Given the description of an element on the screen output the (x, y) to click on. 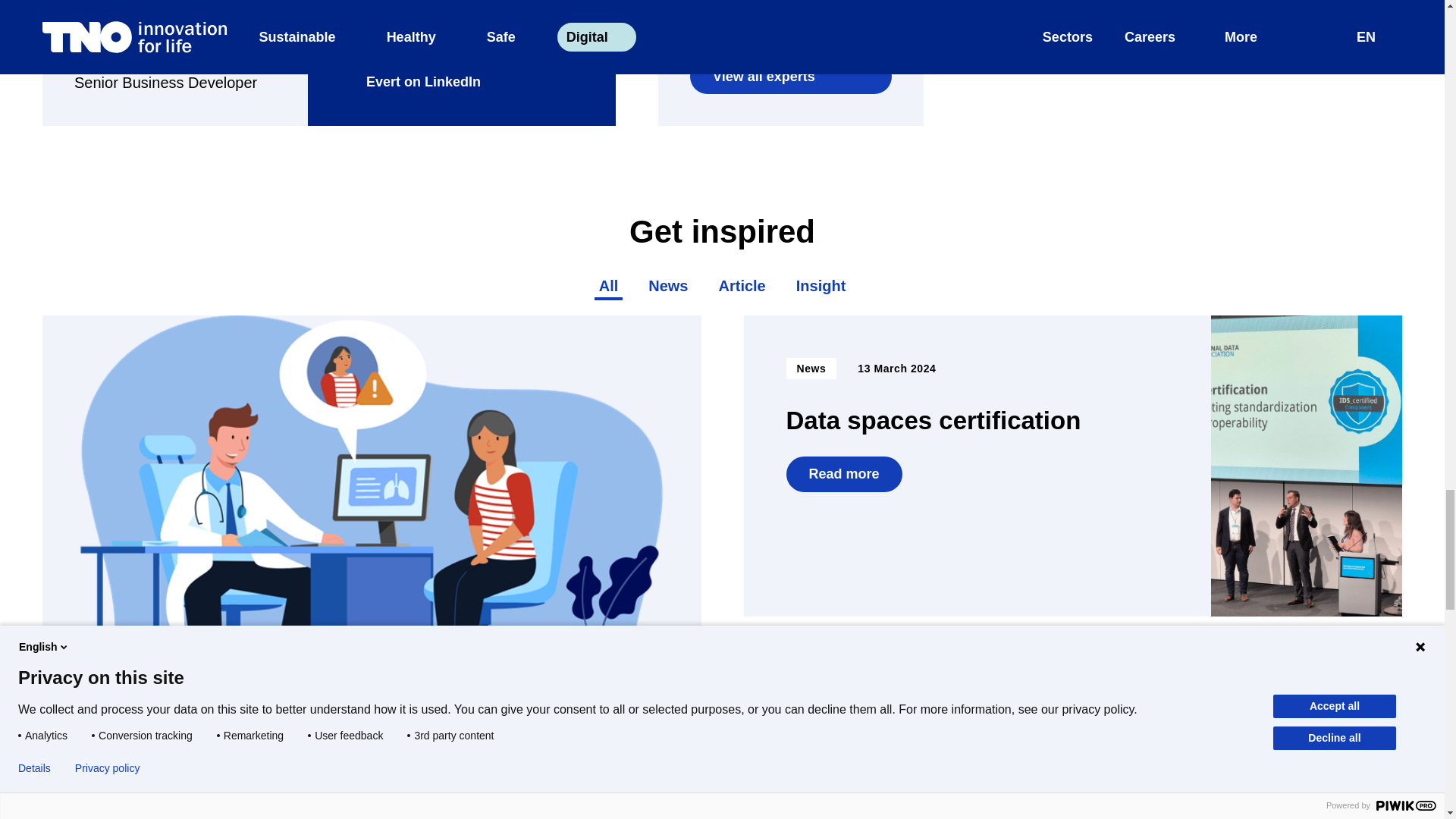
View all experts (790, 76)
Evert on LinkedIn (409, 82)
Email Evert (390, 47)
